Given the description of an element on the screen output the (x, y) to click on. 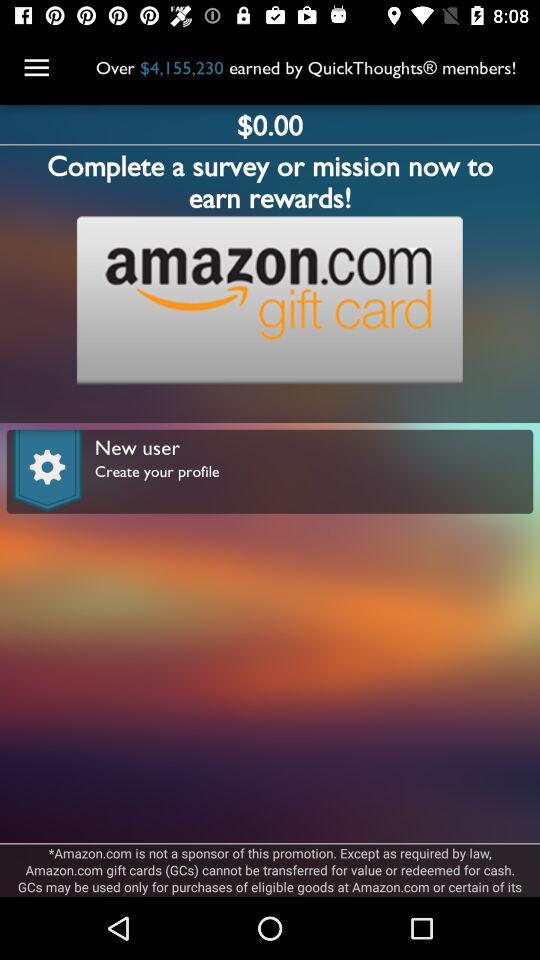
turn off the icon at the top left corner (36, 68)
